Given the description of an element on the screen output the (x, y) to click on. 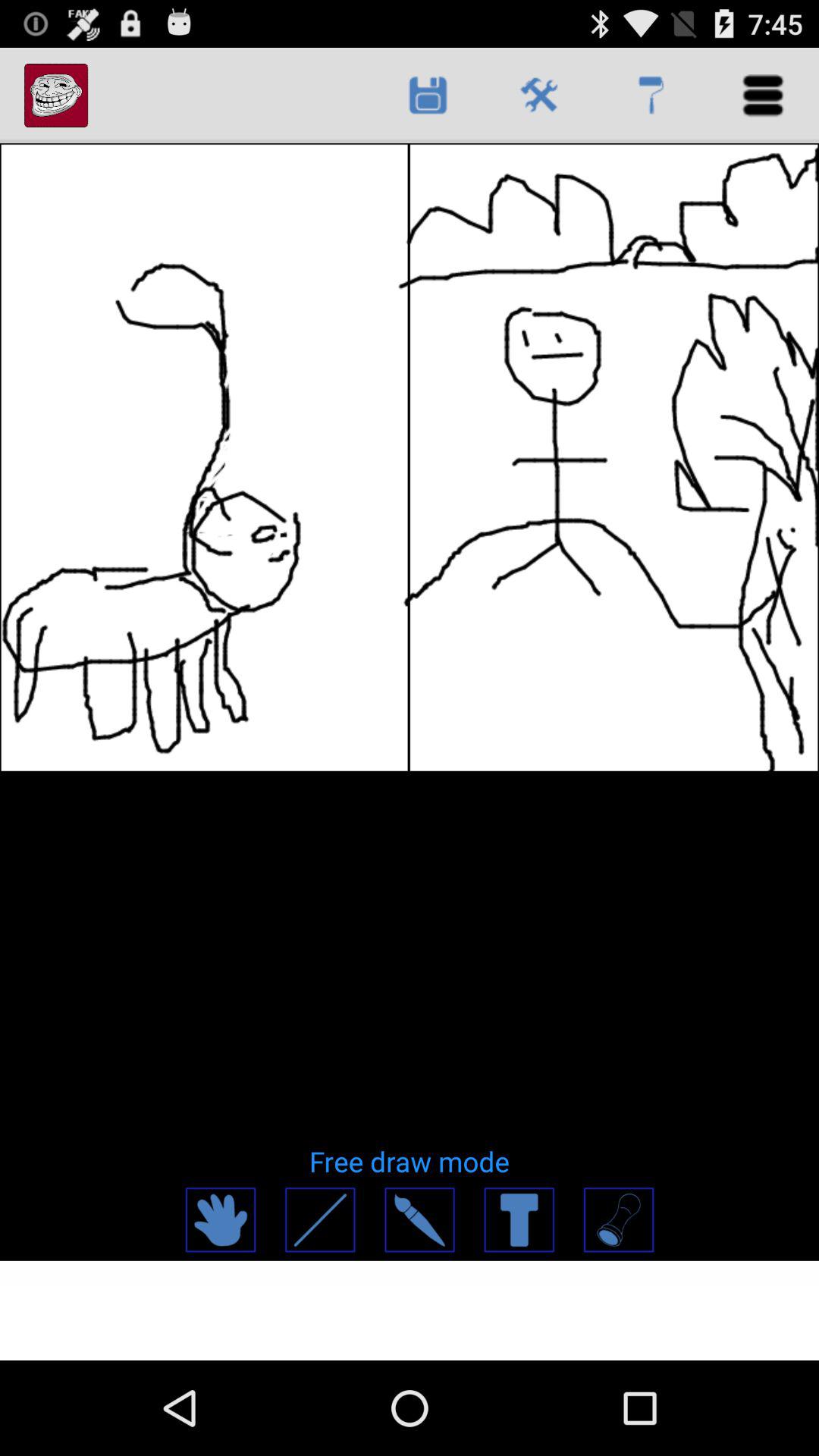
line (319, 1219)
